Given the description of an element on the screen output the (x, y) to click on. 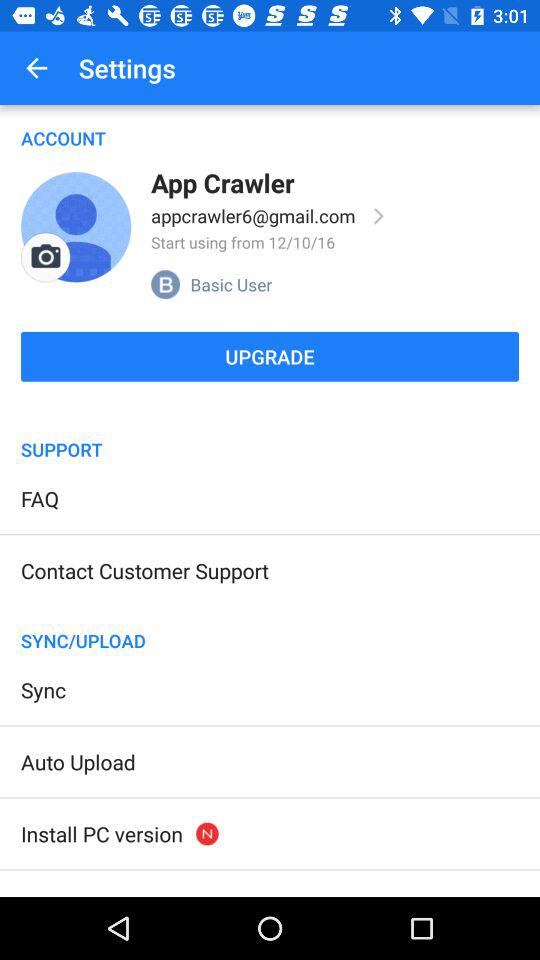
scroll until the appcrawler6@gmail.com (253, 215)
